Given the description of an element on the screen output the (x, y) to click on. 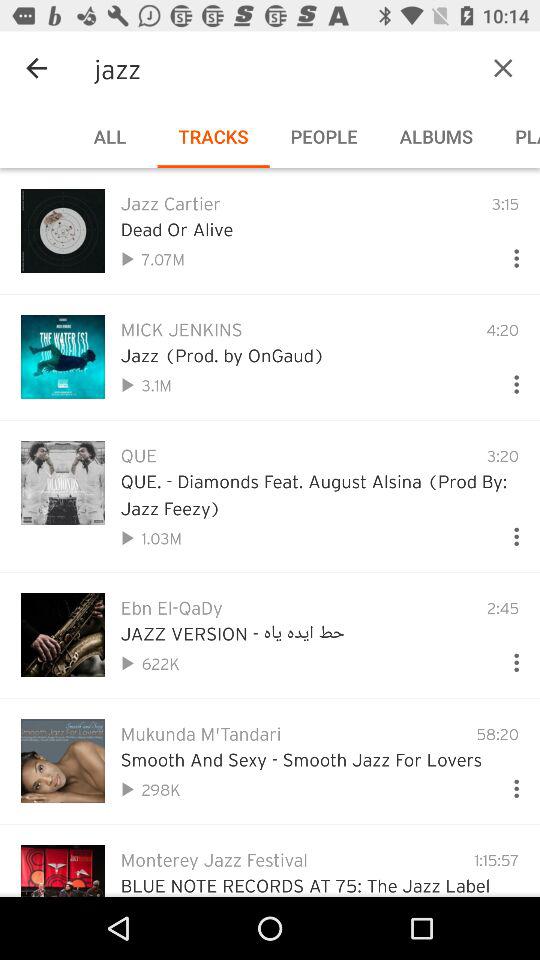
exit play list (503, 68)
